Given the description of an element on the screen output the (x, y) to click on. 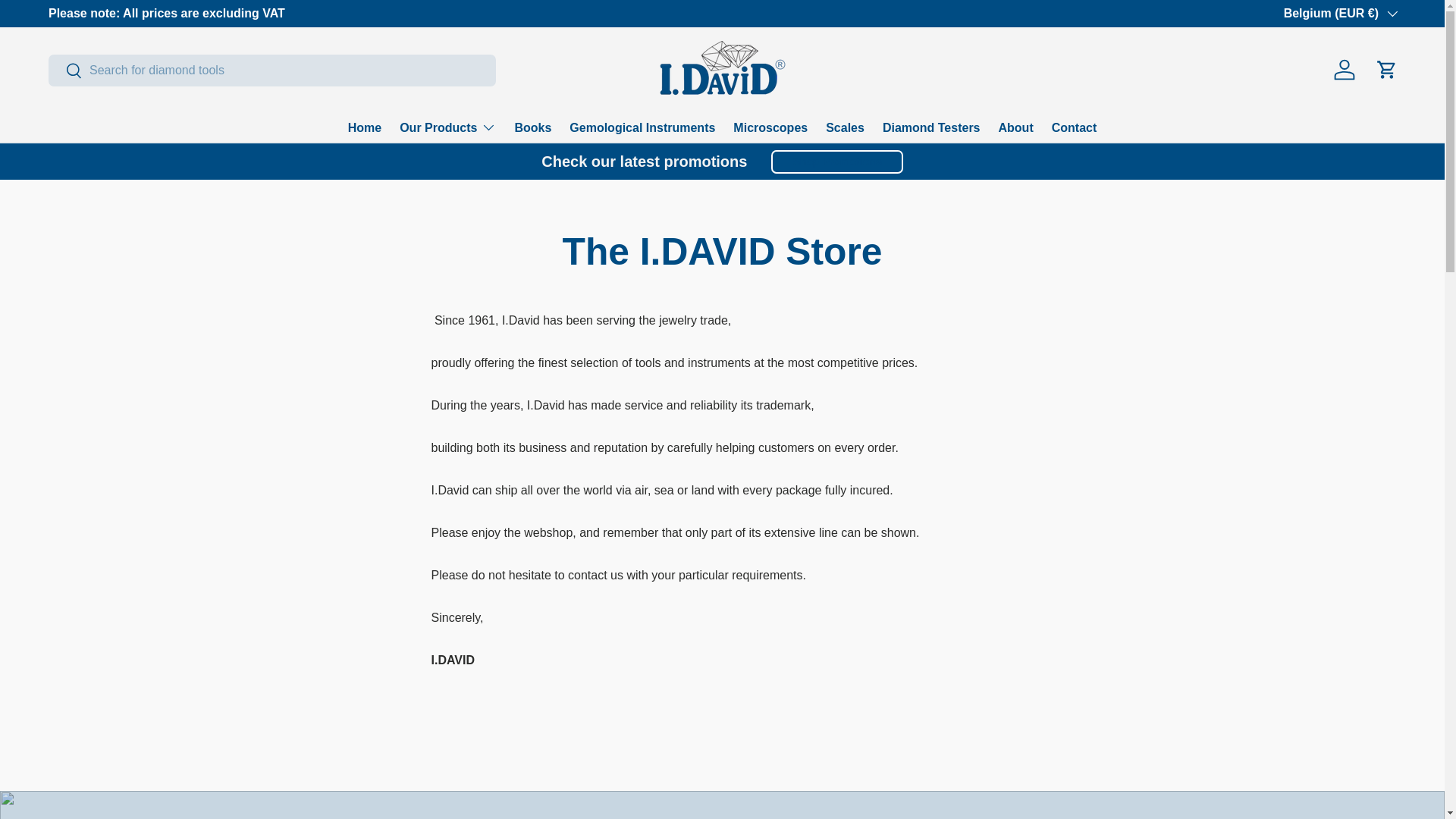
Log in (1344, 69)
Our Products (447, 127)
Home (364, 127)
Cart (1386, 69)
Skip to content (69, 21)
Search (65, 70)
